Given the description of an element on the screen output the (x, y) to click on. 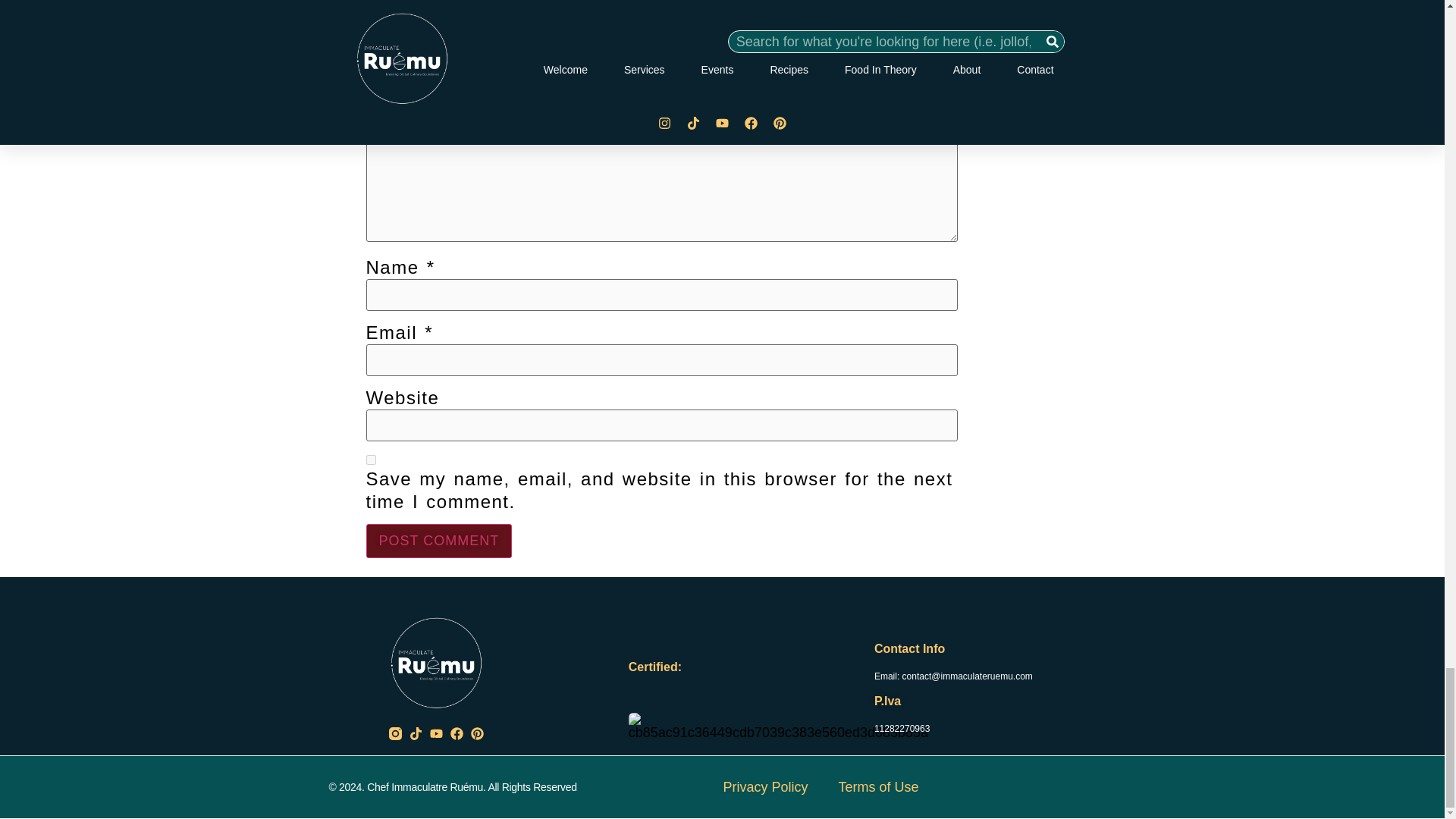
yes (370, 460)
Post Comment (438, 540)
cb85ac91c36449cdb7039c383e560ed3d683b85a (778, 726)
